Given the description of an element on the screen output the (x, y) to click on. 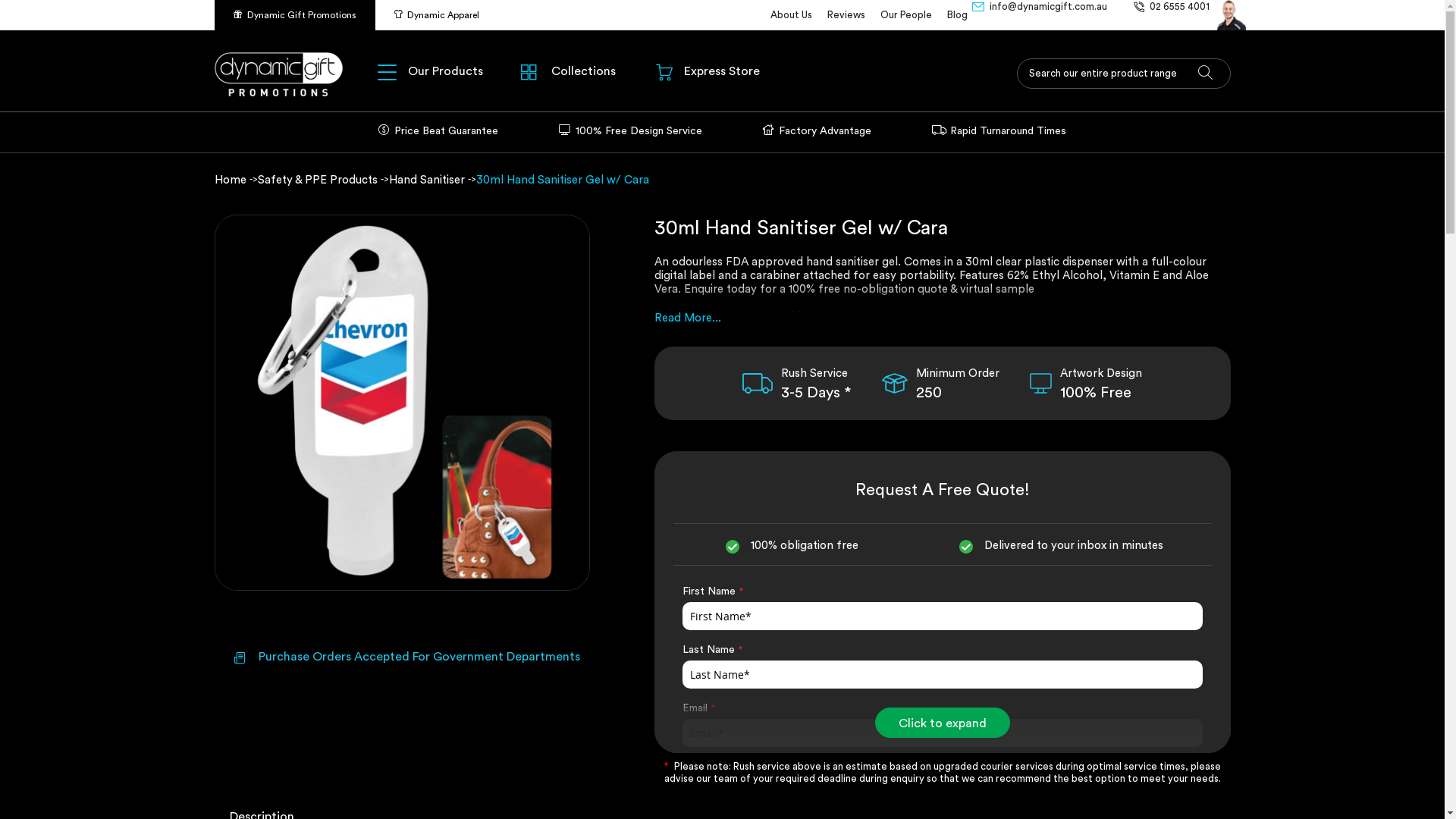
60ml hand sanitiser tube w/ car Element type: text (937, 322)
 Dynamic Apparel Element type: text (435, 15)
Express Store Element type: text (707, 71)
Dynamic Gift Element type: hover (277, 74)
Reviews Element type: text (845, 15)
Home Element type: text (230, 179)
Safety & PPE Products Element type: text (318, 179)
 02 6555 4001 Element type: text (1170, 15)
 info@dynamicgift.com.au Element type: text (1038, 15)
 Rapid Turnaround Times Element type: text (998, 130)
 100% Free Design Service Element type: text (630, 130)
Our People Element type: text (905, 15)
 Dynamic Gift Promotions Element type: text (293, 15)
 Factory Advantage Element type: text (816, 130)
Our Products Element type: text (429, 71)
Click to expand Element type: text (942, 722)
Search Element type: text (1205, 73)
Hand Sanitiser Element type: text (427, 179)
About Us Element type: text (791, 15)
Read More... Element type: text (687, 318)
 Price Beat Guarantee Element type: text (438, 130)
Blog Element type: text (956, 15)
Collections Element type: text (568, 71)
